Given the description of an element on the screen output the (x, y) to click on. 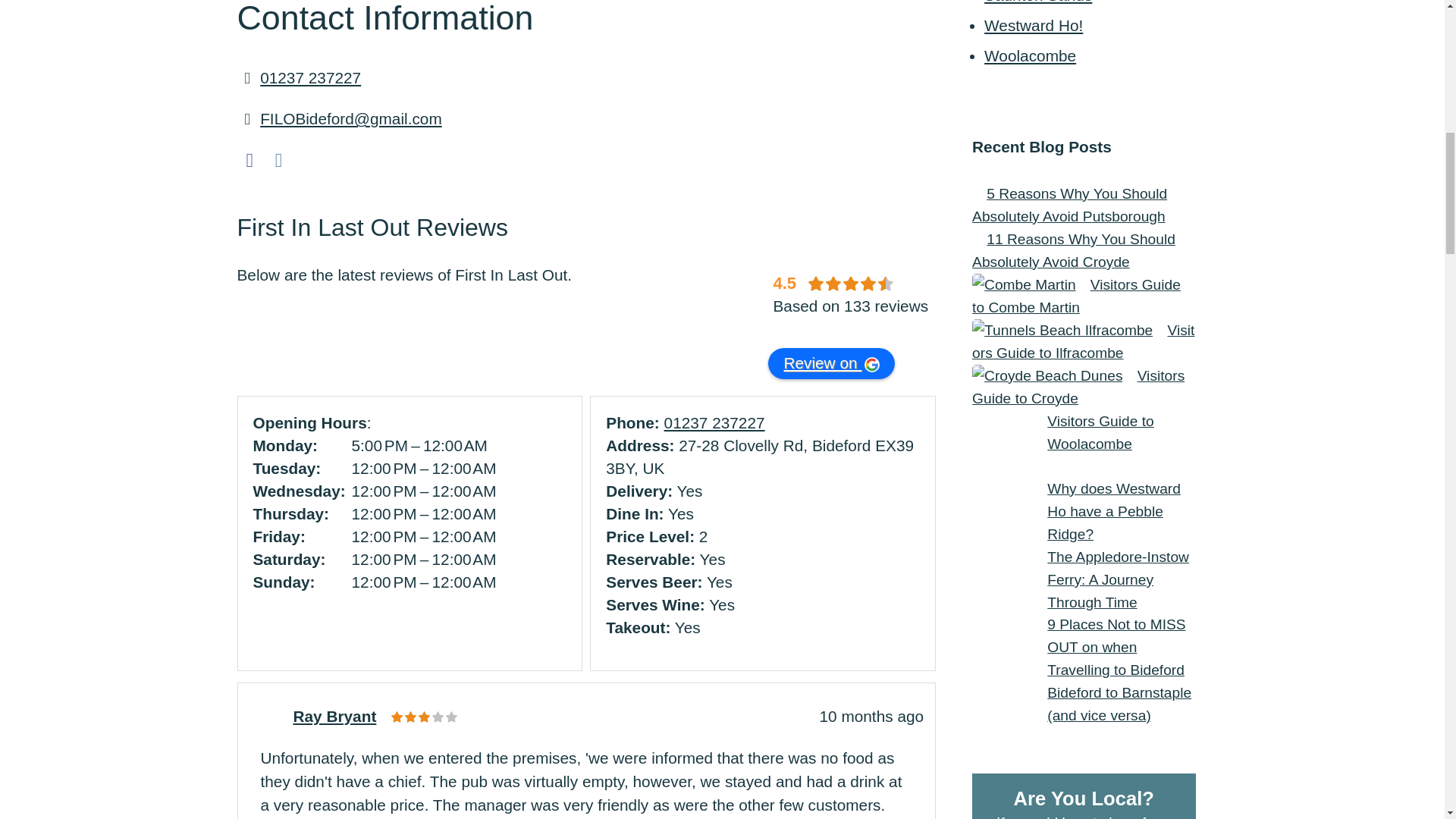
Ray Bryant avatar (266, 712)
Facebook (248, 159)
powered by Google (827, 330)
Tripadvisor (307, 159)
Instagram (278, 159)
